Given the description of an element on the screen output the (x, y) to click on. 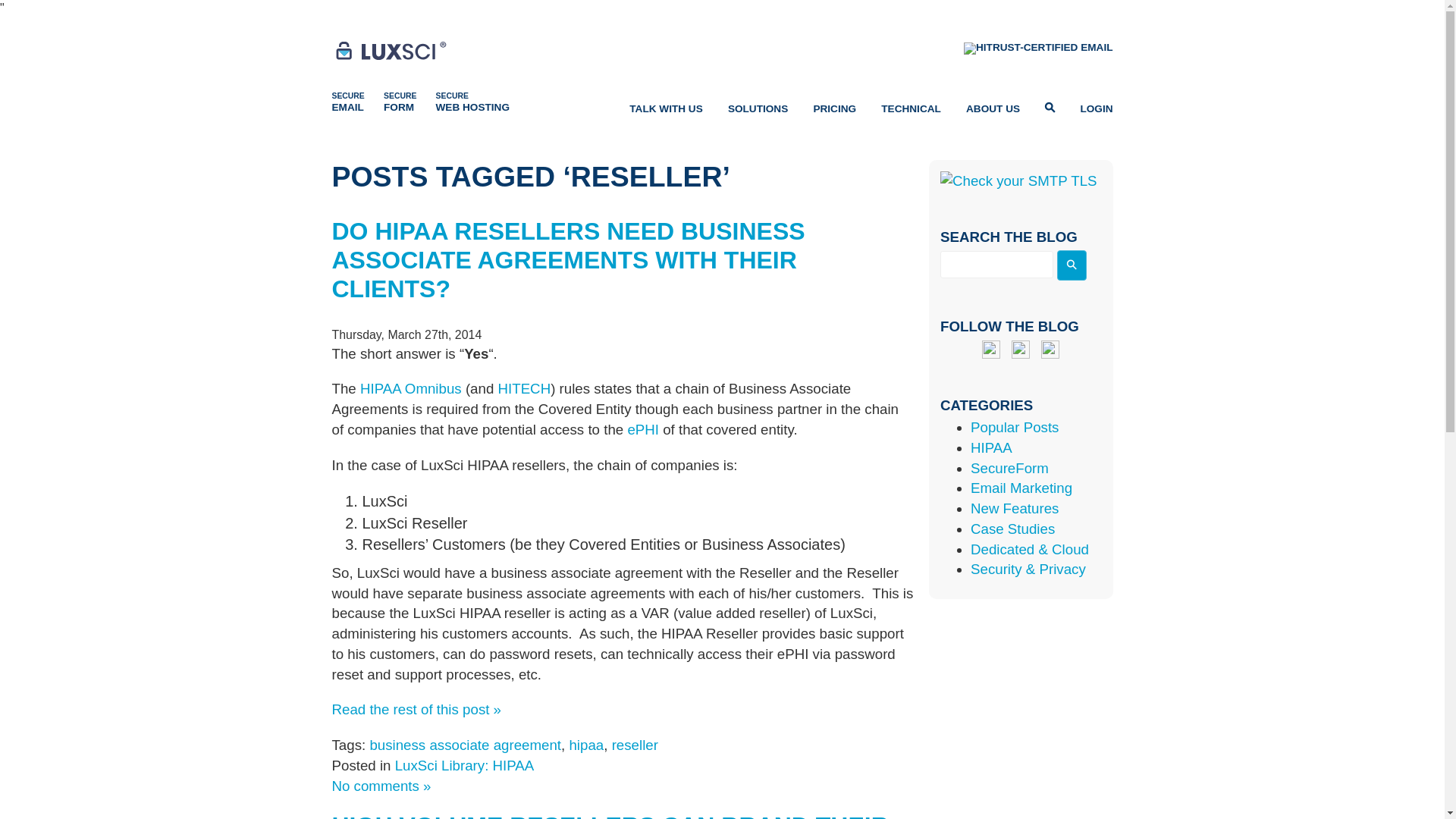
Case Studies (1012, 528)
SecureForm (1009, 467)
HITECH (524, 388)
SECURE (400, 103)
business associate agreement (464, 744)
reseller (634, 744)
TALK WITH US (664, 108)
SOLUTIONS (757, 108)
